Given the description of an element on the screen output the (x, y) to click on. 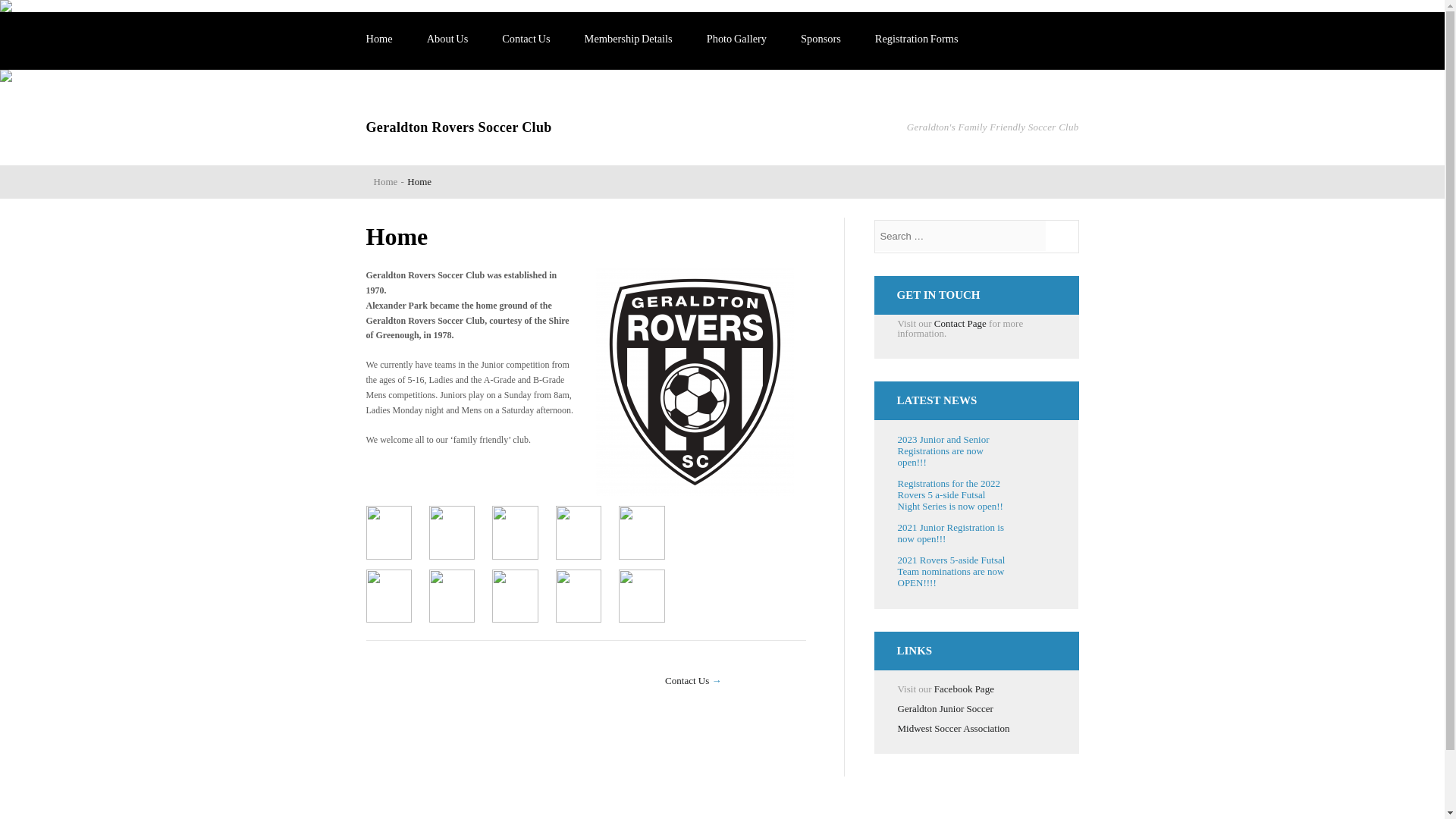
Contact Us (526, 38)
Registration Forms (916, 38)
2023 Junior and Senior Registrations are now open!!! (944, 450)
Search (1063, 236)
2021 Rovers 5-aside Futsal Team nominations are now OPEN!!!! (952, 571)
Geraldton Junior Soccer (945, 708)
Search (1063, 236)
Contact Us (687, 680)
Sponsors (820, 38)
About Us (447, 38)
2021 Junior Registration is now open!!! (951, 532)
Search (1063, 236)
Home (384, 181)
Contact Page (960, 323)
